Given the description of an element on the screen output the (x, y) to click on. 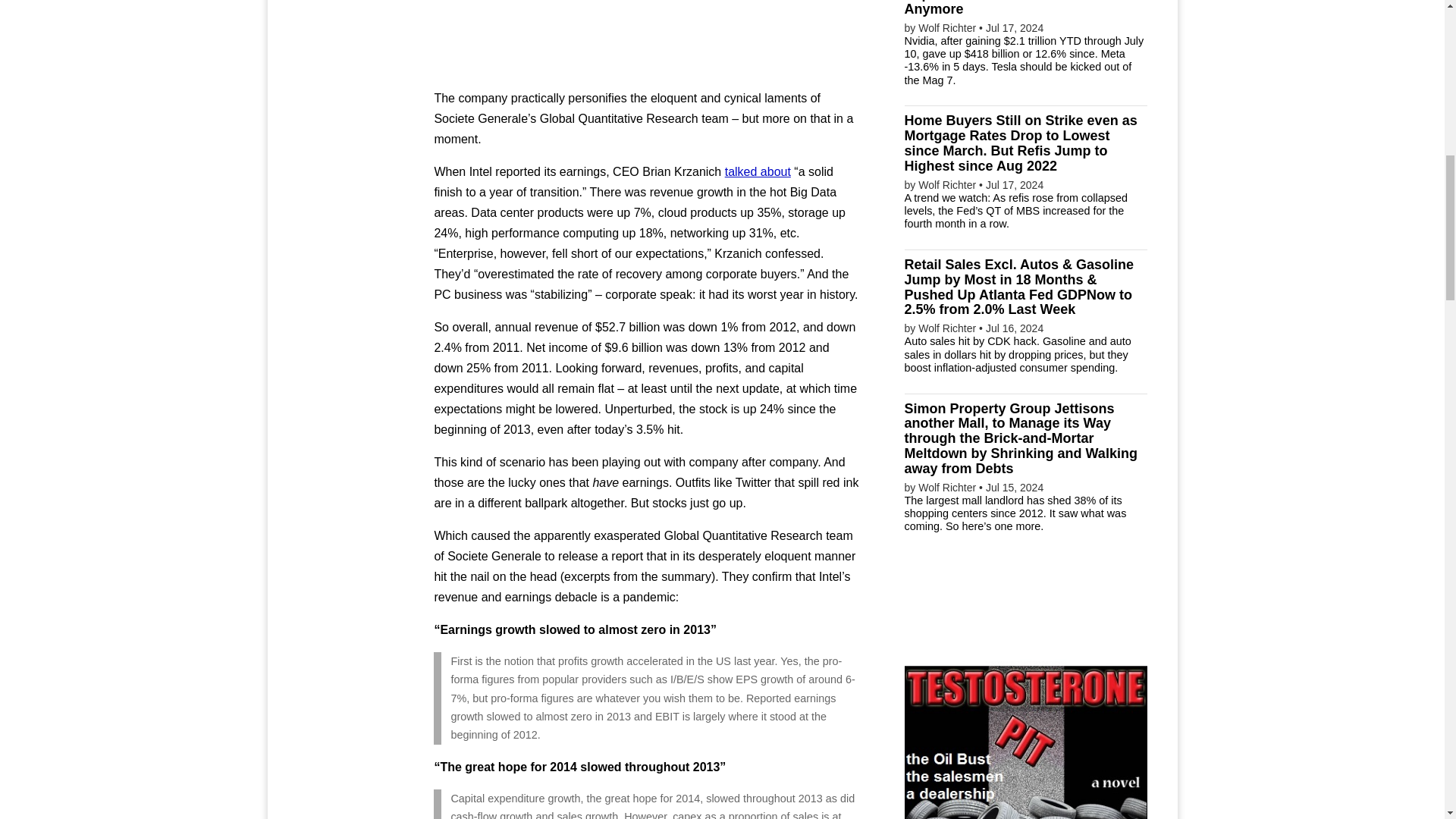
talked about (757, 171)
